Given the description of an element on the screen output the (x, y) to click on. 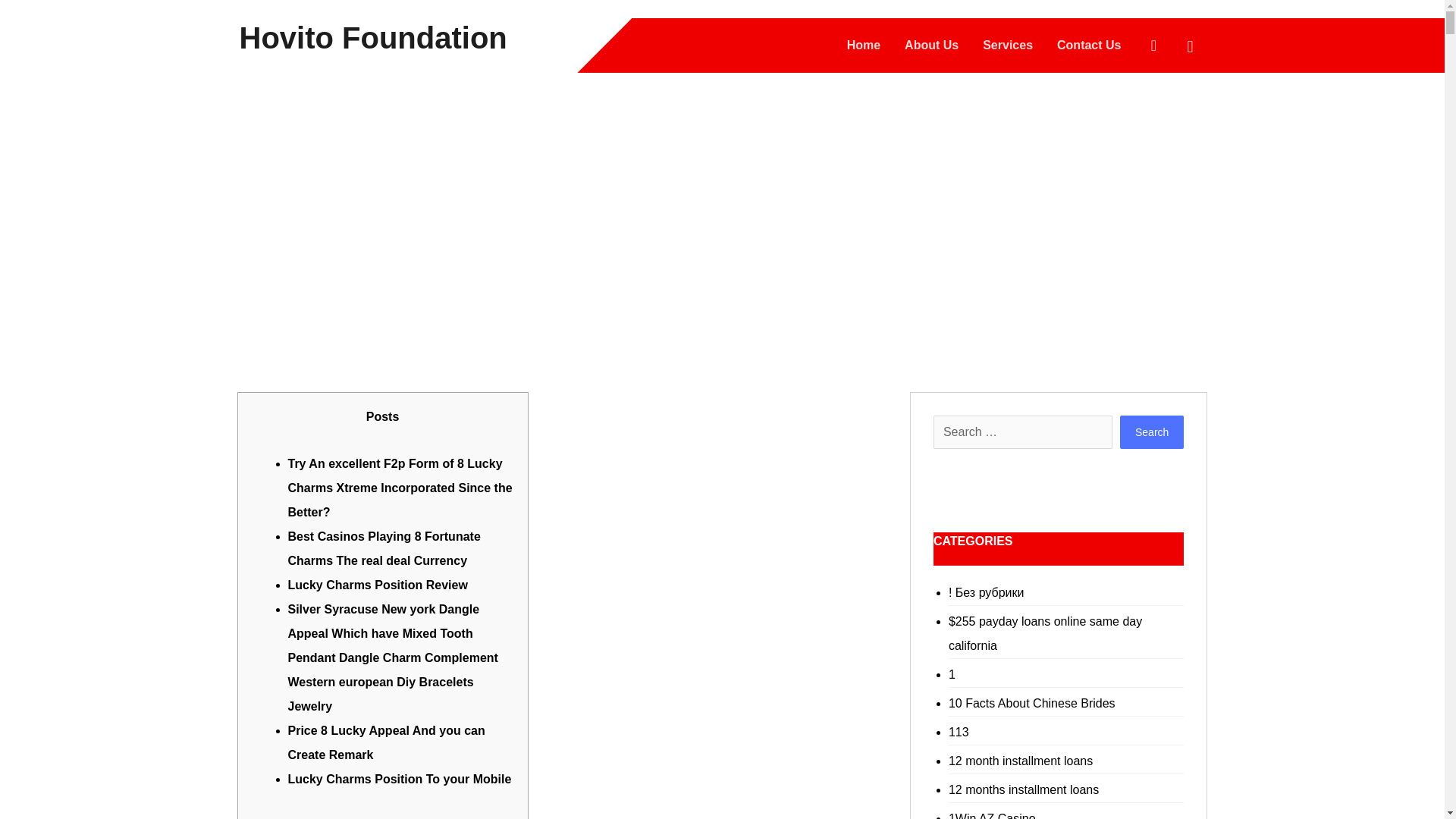
Services (1007, 45)
Contact Us (1089, 45)
Lucky Charms Position Review (377, 584)
Lucky Charms Position To your Mobile (400, 779)
Hovito Foundation (373, 37)
About Us (931, 45)
Price 8 Lucky Appeal And you can Create Remark (386, 742)
